Given the description of an element on the screen output the (x, y) to click on. 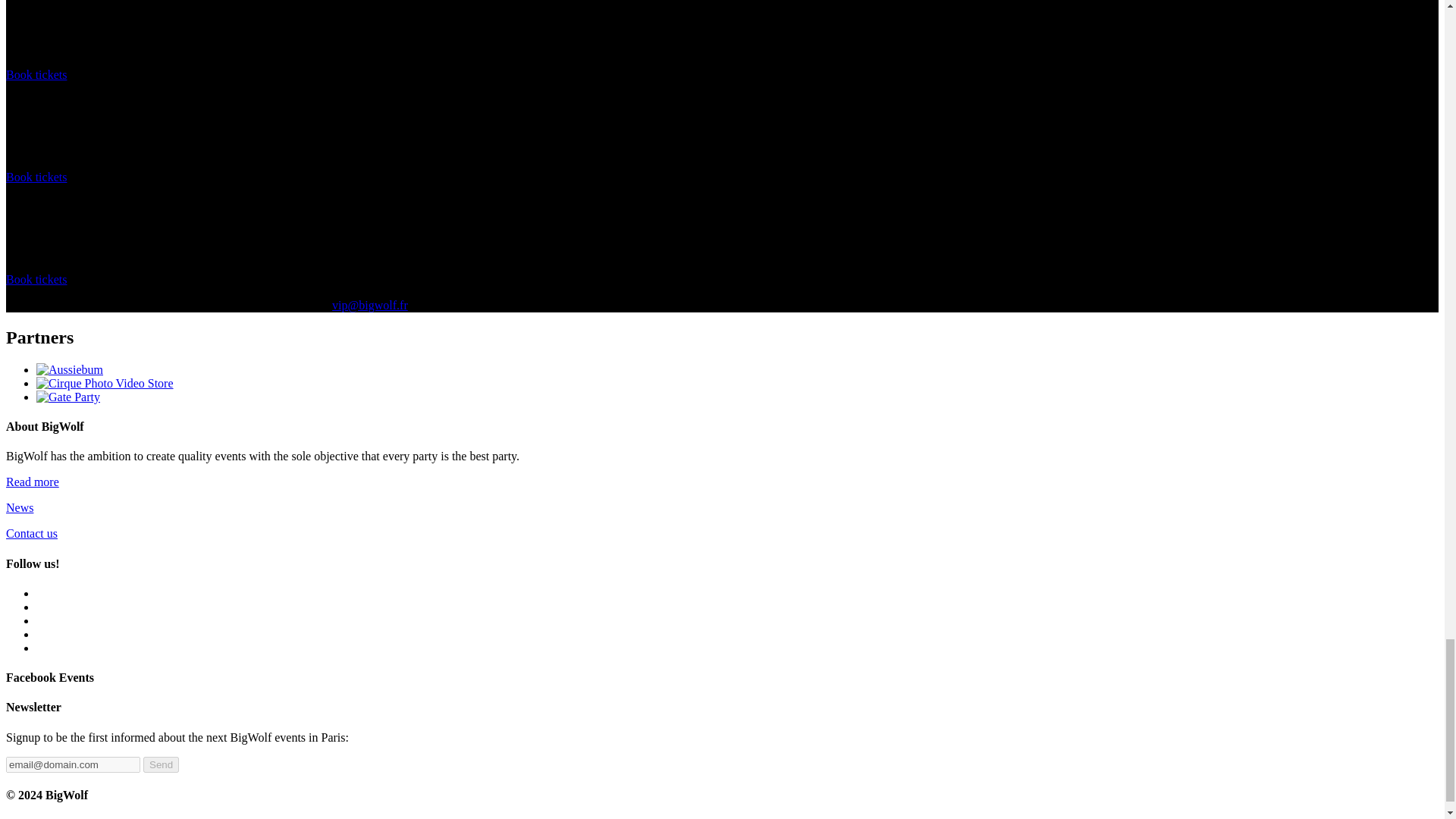
Book tickets (35, 74)
Send (160, 764)
